Given the description of an element on the screen output the (x, y) to click on. 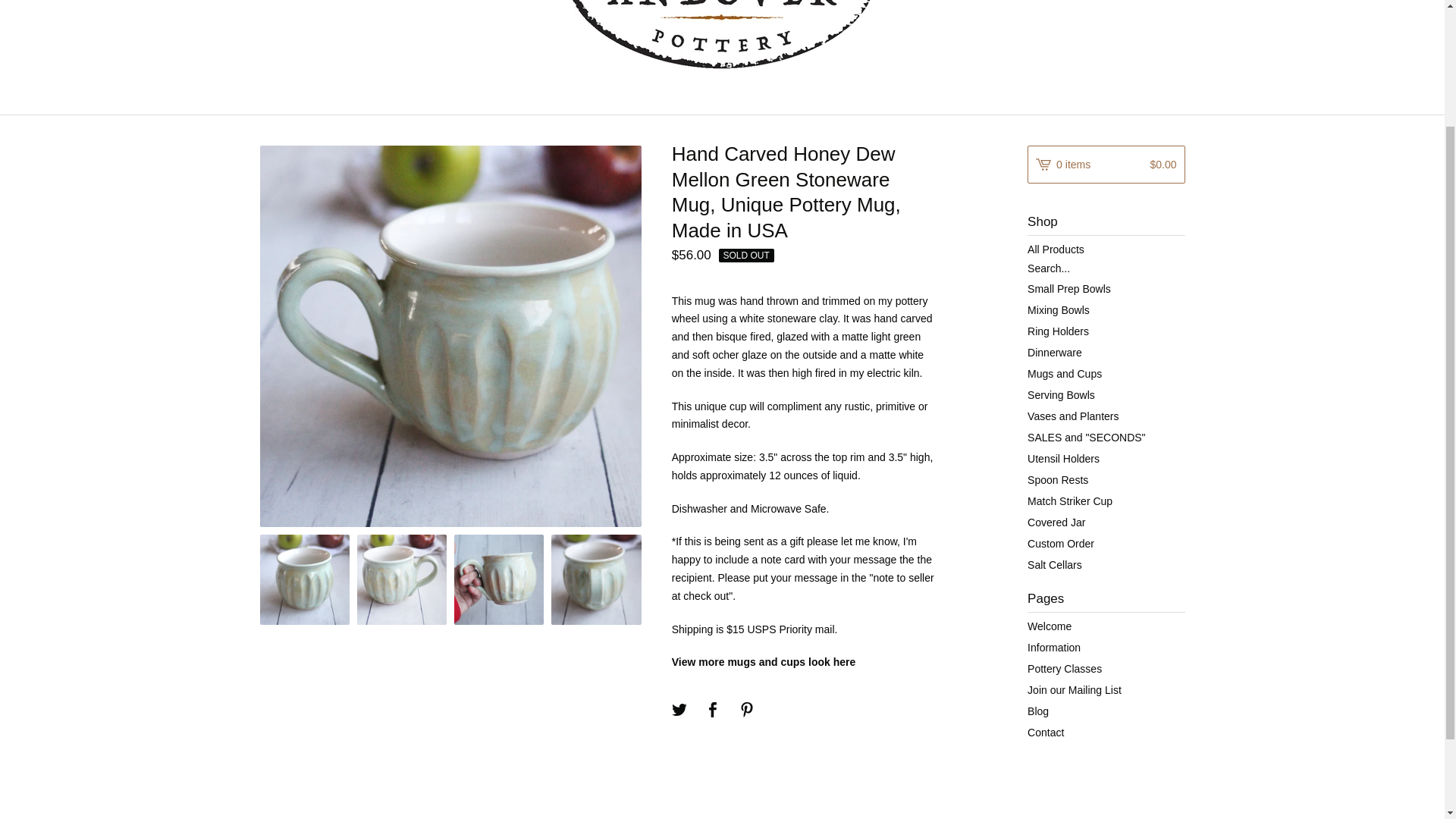
Welcome (1106, 626)
View more mugs and cups look here (763, 662)
Covered Jar (1106, 522)
Pottery Classes (1106, 668)
Dinnerware (1106, 352)
View Dinnerware (1106, 352)
Utensil Holders (1106, 458)
View Mixing Bowls (1106, 310)
Like or Share (712, 710)
Pin (746, 710)
Join our Mailing List (1106, 690)
View SALES and "SECONDS" (1106, 436)
View Custom Order (1106, 543)
Salt Cellars (1106, 564)
Spoon Rests (1106, 479)
